Given the description of an element on the screen output the (x, y) to click on. 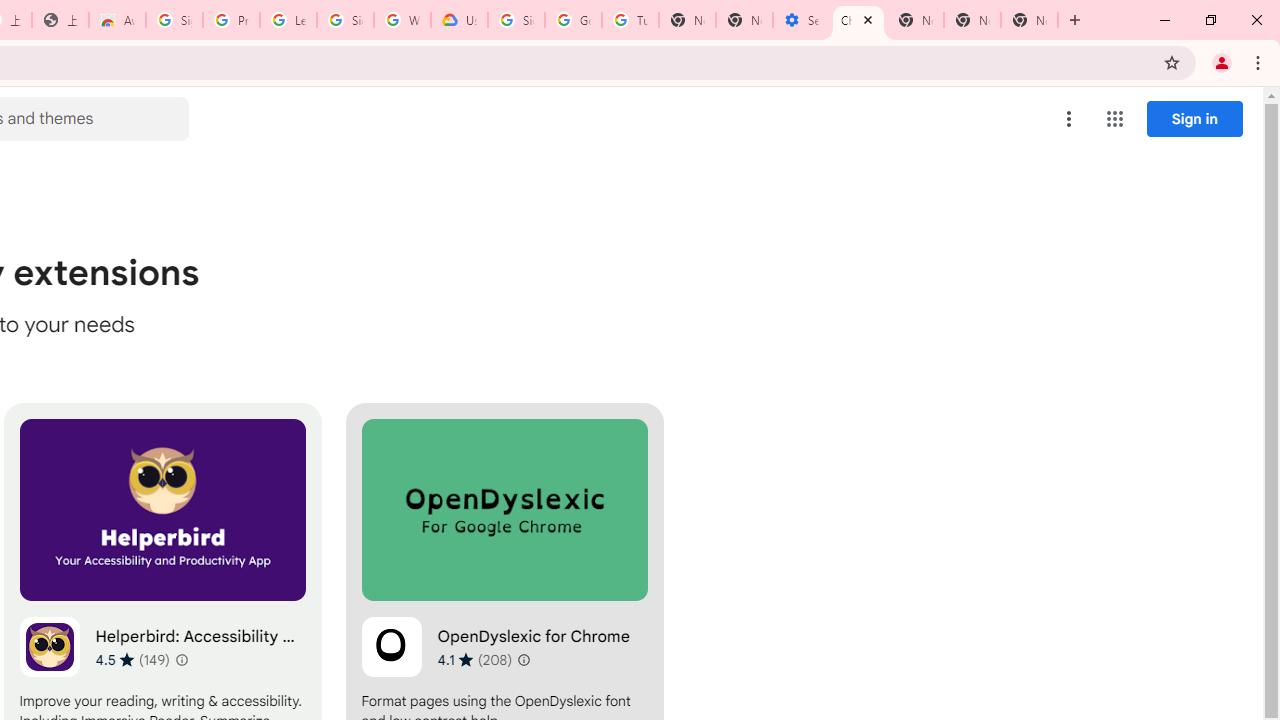
Chrome Web Store - Accessibility extensions (858, 20)
Settings - Accessibility (801, 20)
Sign in - Google Accounts (174, 20)
Average rating 4.5 out of 5 stars. 149 ratings. (132, 659)
Google Account Help (573, 20)
Awesome Screen Recorder & Screenshot - Chrome Web Store (116, 20)
Sign in - Google Accounts (345, 20)
